Given the description of an element on the screen output the (x, y) to click on. 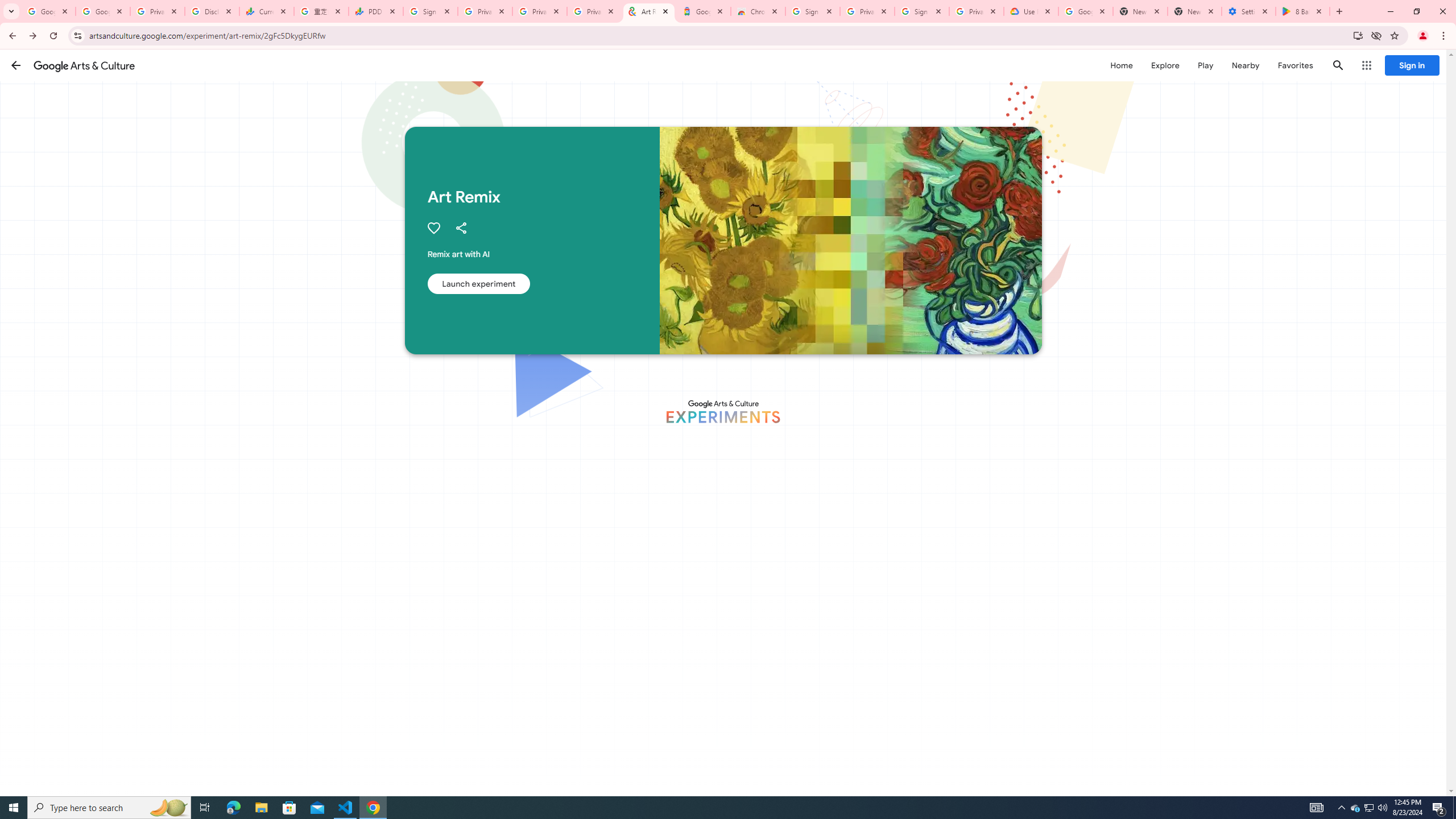
Google Arts & Culture (84, 65)
Google (703, 11)
Explore (1164, 65)
8 Ball Pool - Apps on Google Play (1303, 11)
Favorites (1295, 65)
Sign in - Google Accounts (921, 11)
